Given the description of an element on the screen output the (x, y) to click on. 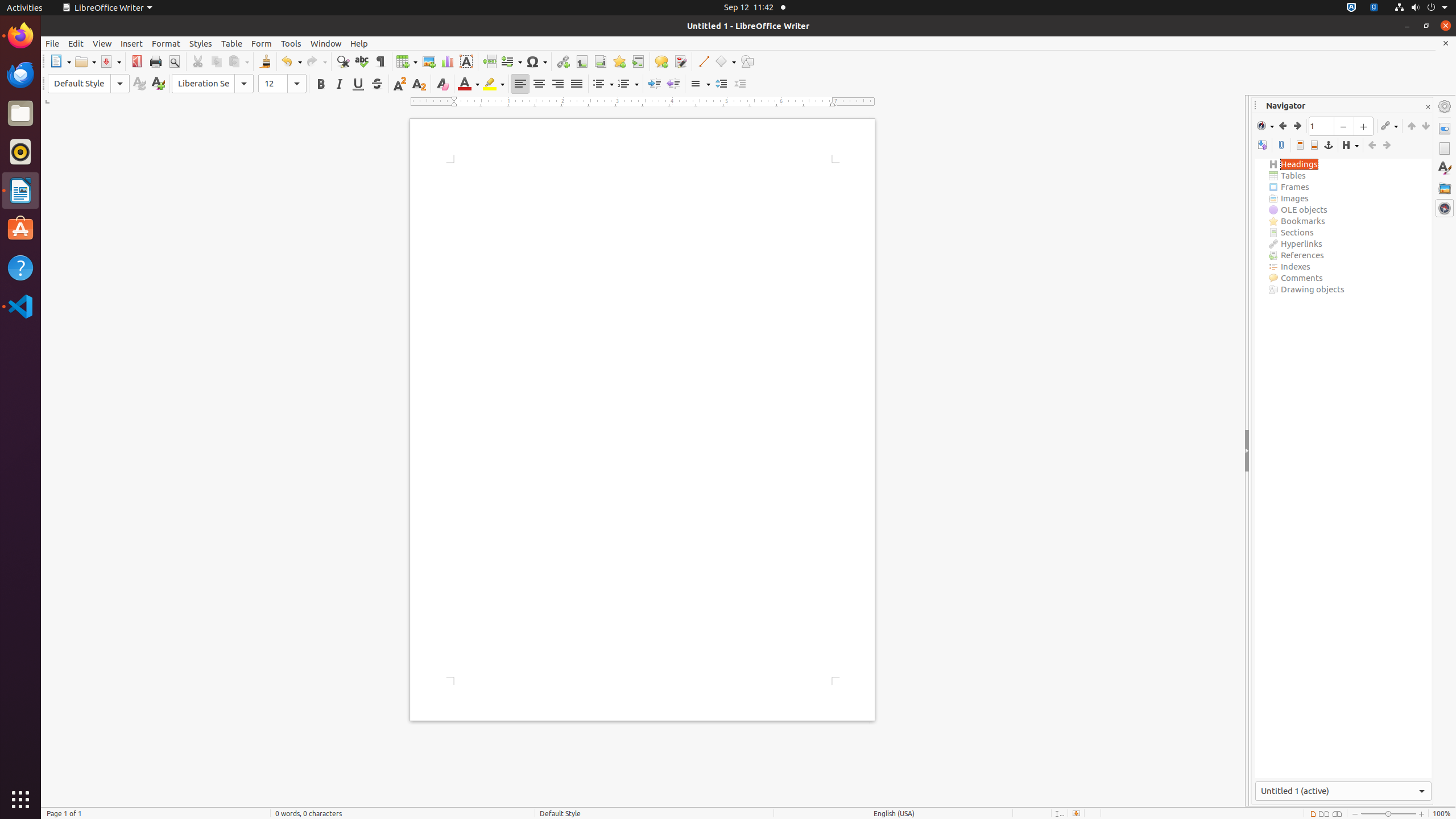
File Element type: menu (51, 43)
Font Size Element type: combo-box (282, 83)
Find & Replace Element type: toggle-button (342, 61)
Image Element type: push-button (428, 61)
:1.72/StatusNotifierItem Element type: menu (1350, 7)
